Given the description of an element on the screen output the (x, y) to click on. 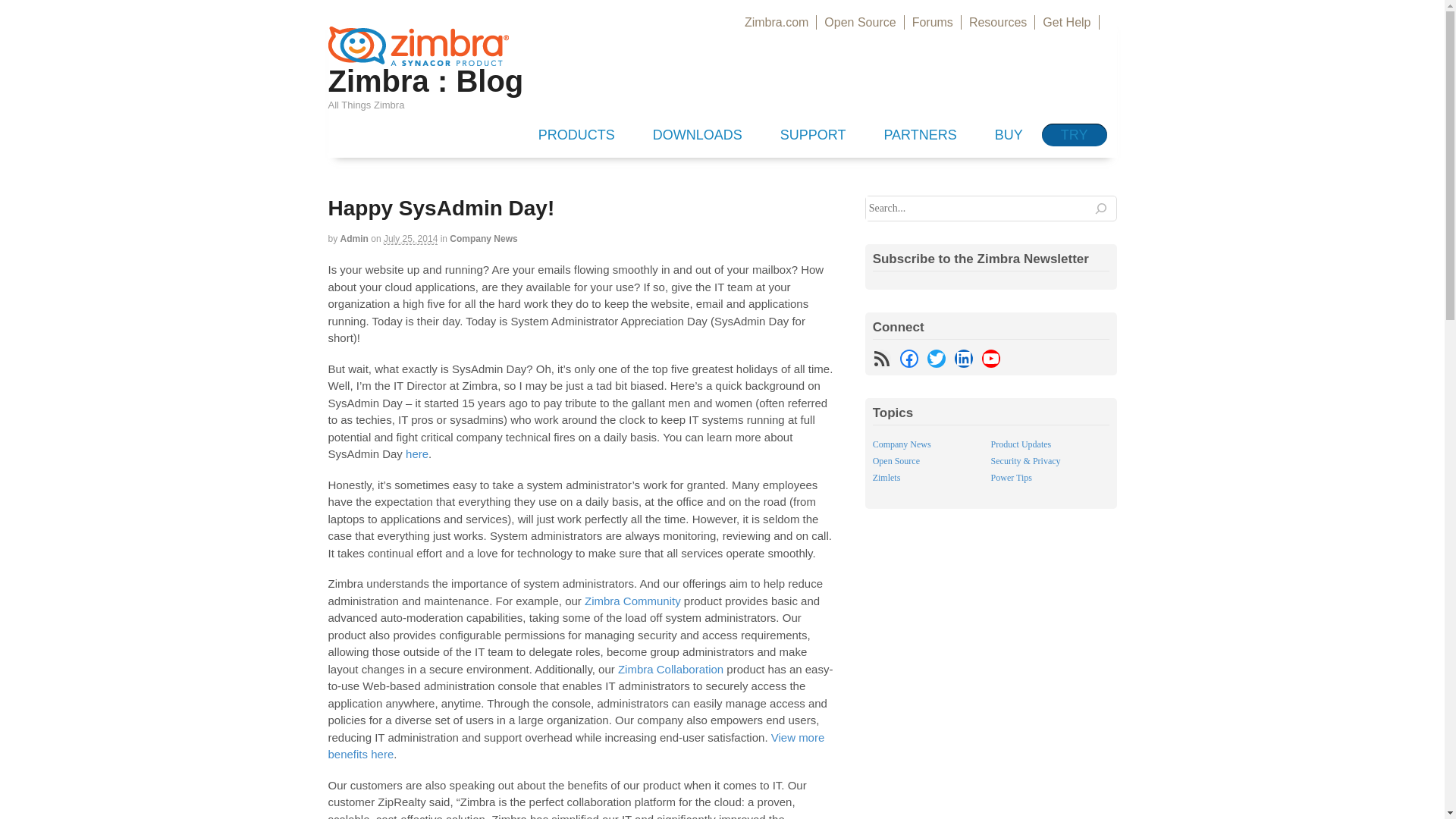
Company News (482, 238)
Zimbra Collaboration (670, 668)
View more benefits here (575, 746)
here (417, 453)
Get Help (1066, 22)
Twitter (935, 358)
RSS Feed (881, 358)
Posts by admin (354, 238)
Resources (997, 22)
2014-07-25T12:10:24-0700 (411, 238)
